Given the description of an element on the screen output the (x, y) to click on. 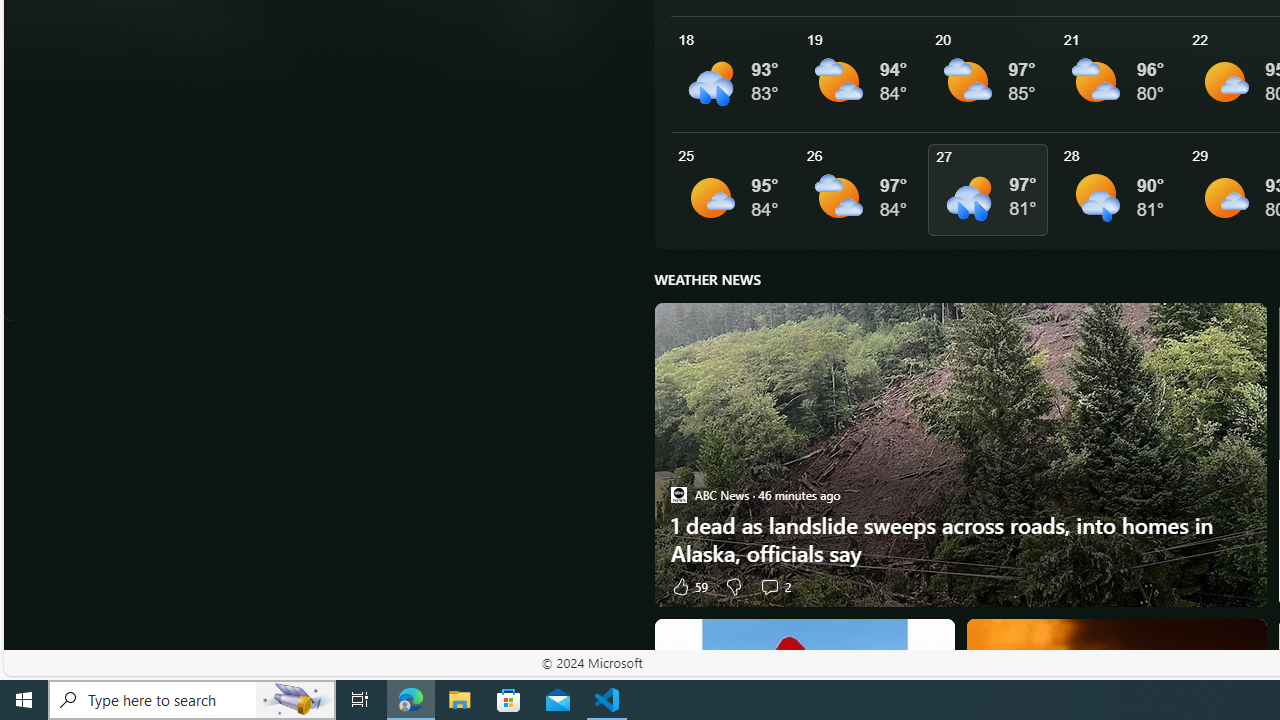
59 Like (688, 586)
See More Details (1120, 190)
View comments 2 Comment (769, 586)
